Given the description of an element on the screen output the (x, y) to click on. 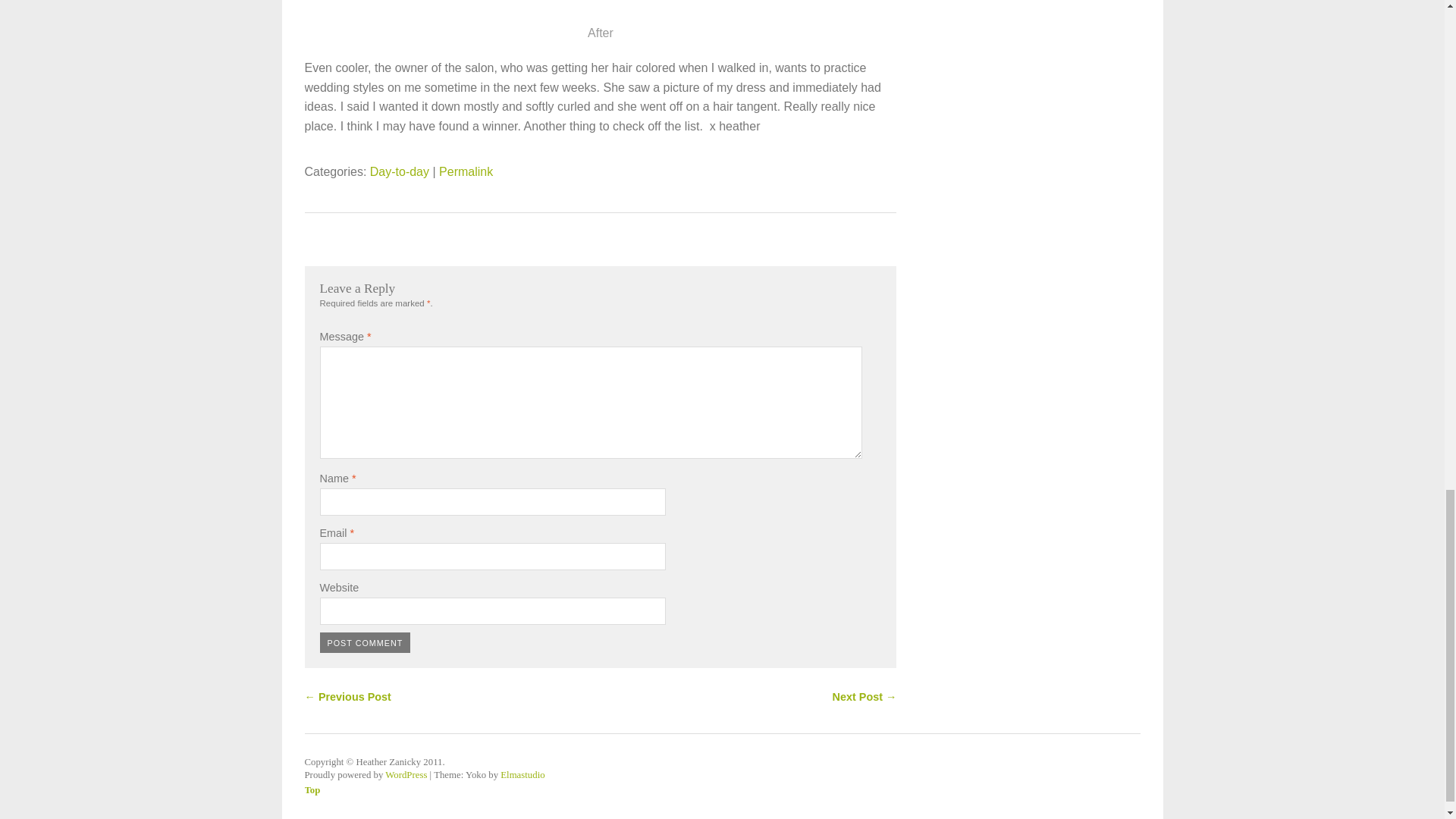
Day-to-day (399, 171)
Permalink (466, 171)
Post Comment (365, 642)
Post Comment (365, 642)
